Given the description of an element on the screen output the (x, y) to click on. 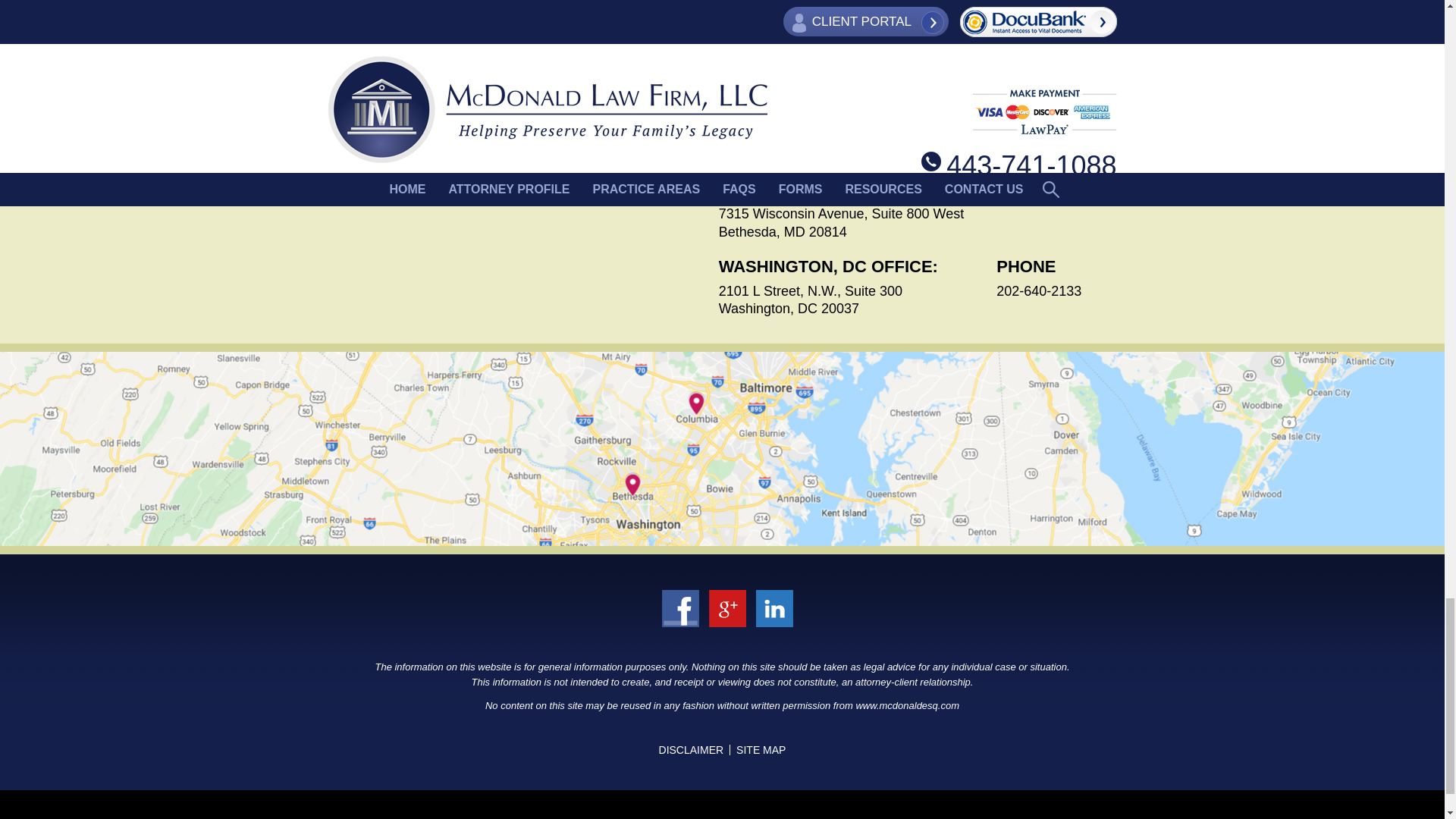
linkedin (717, 627)
